Given the description of an element on the screen output the (x, y) to click on. 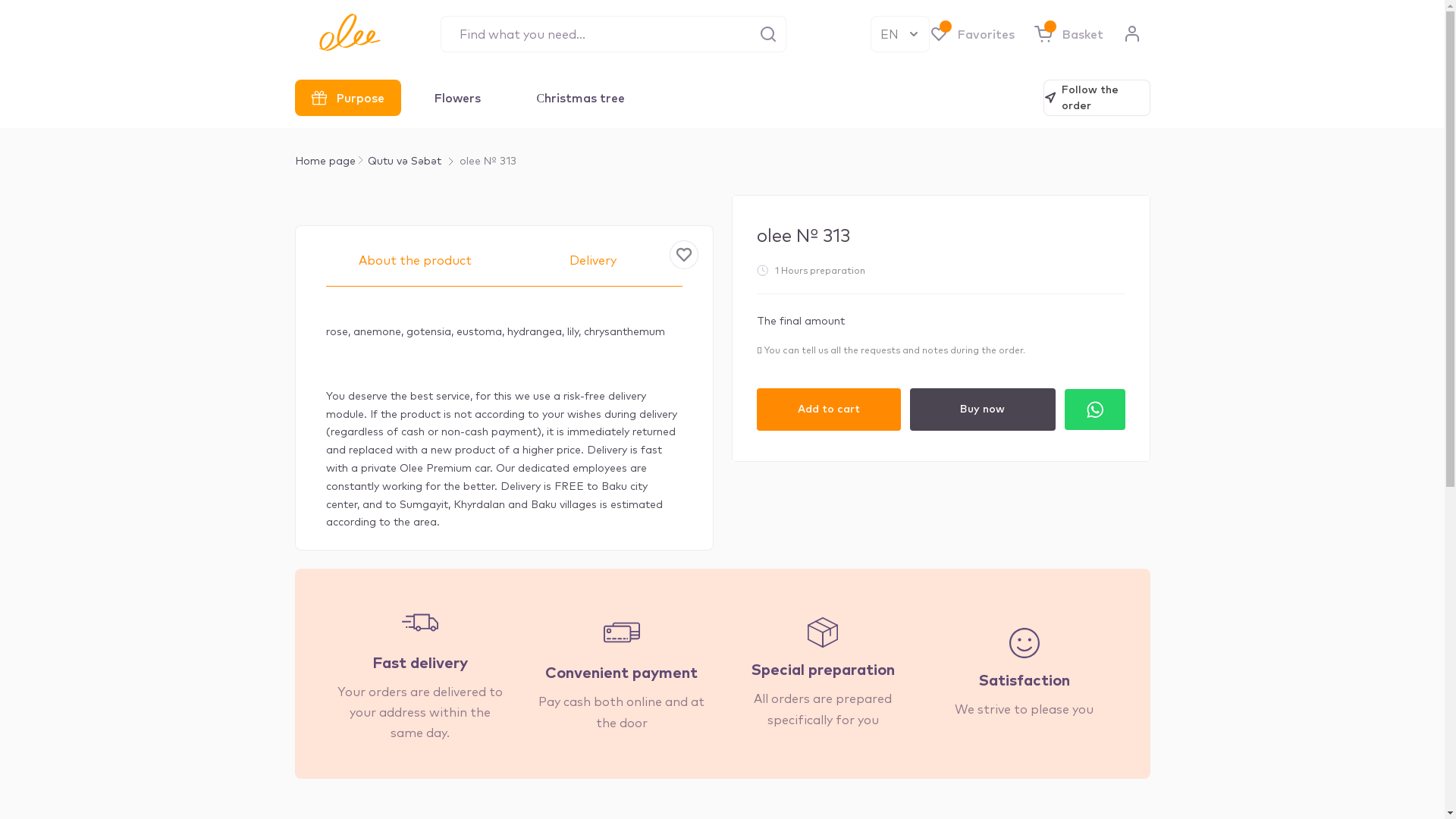
EN Element type: text (899, 33)
Favorites Element type: text (971, 33)
Delivery Element type: text (592, 268)
Add to cart Element type: text (828, 409)
About the product Element type: text (415, 268)
Buy now Element type: text (982, 409)
Purpose Element type: text (347, 97)
Home page Element type: text (324, 161)
Flowers Element type: text (456, 97)
Follow the order Element type: text (1096, 97)
Basket Element type: text (1068, 33)
